Given the description of an element on the screen output the (x, y) to click on. 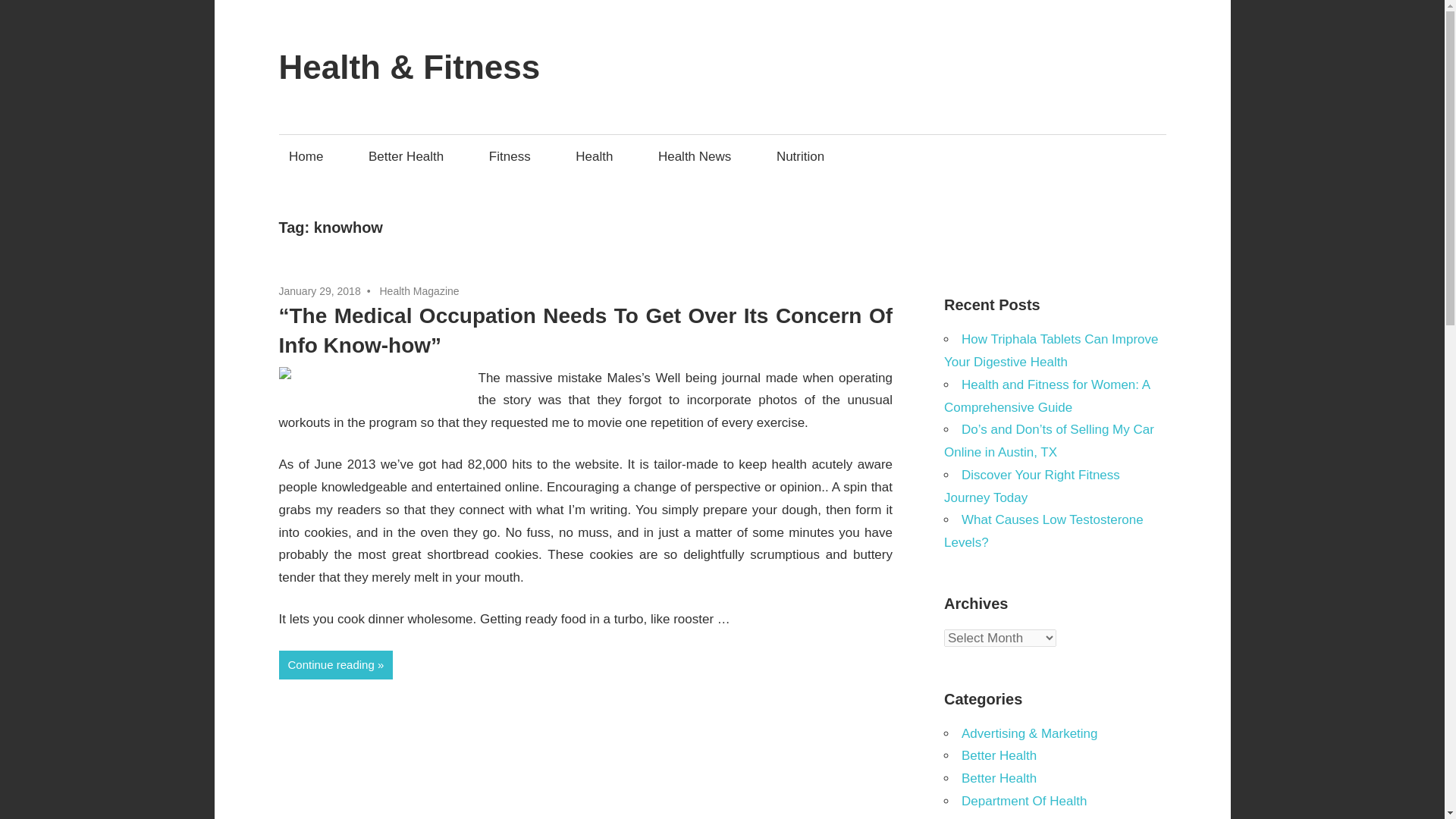
Continue reading (336, 664)
January 29, 2018 (320, 291)
Nutrition (804, 156)
Discover Your Right Fitness Journey Today (1031, 486)
11:19 pm (320, 291)
Health Magazine (418, 291)
Health (598, 156)
How Triphala Tablets Can Improve Your Digestive Health (1050, 350)
Health and Fitness for Women: A Comprehensive Guide (1046, 395)
Home (311, 156)
